Given the description of an element on the screen output the (x, y) to click on. 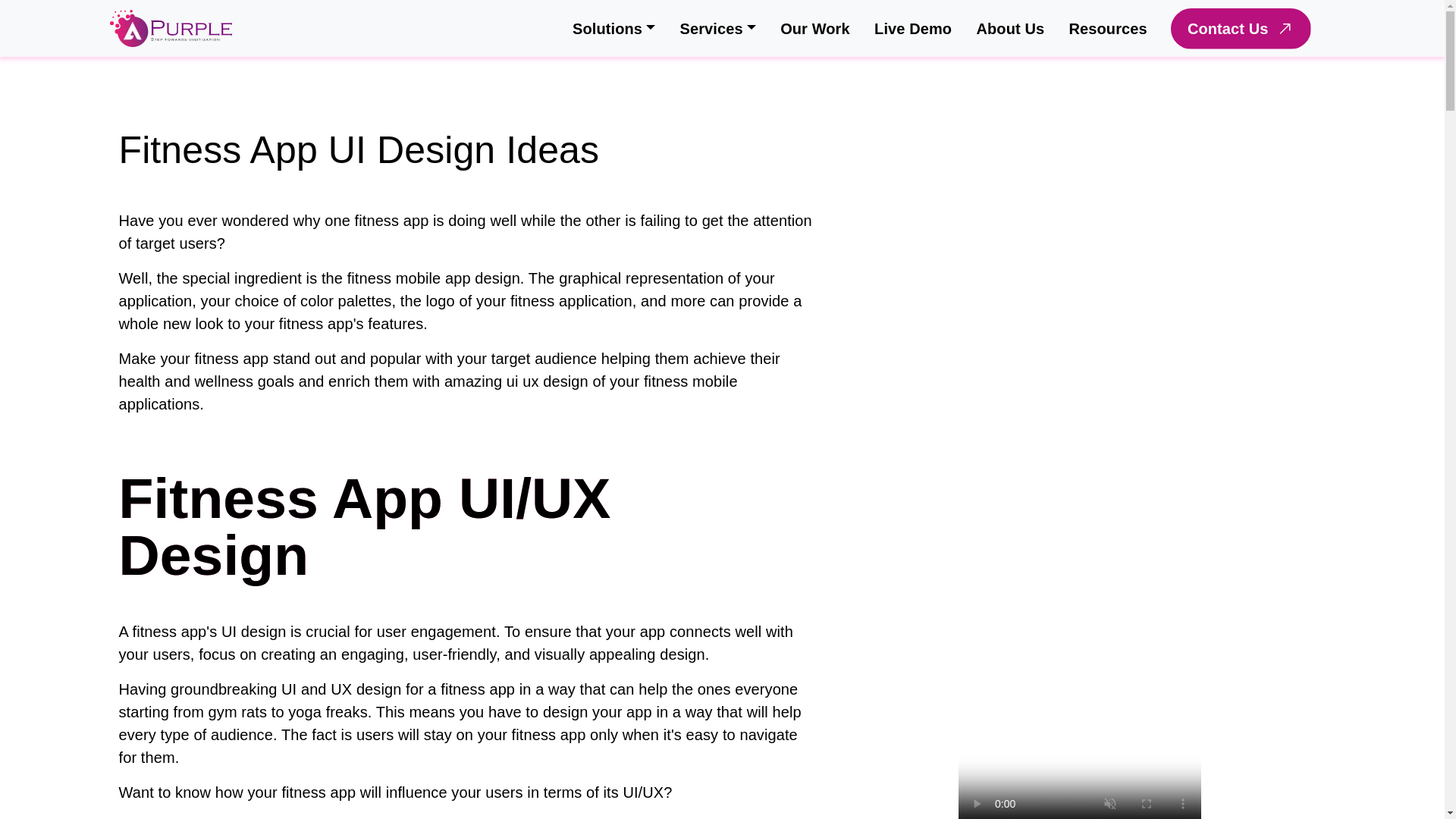
Contact Us (1240, 27)
Live Demo (912, 27)
Our Work (815, 27)
About Us (1010, 27)
Solutions (613, 27)
Resources (1107, 27)
Services (717, 27)
